Given the description of an element on the screen output the (x, y) to click on. 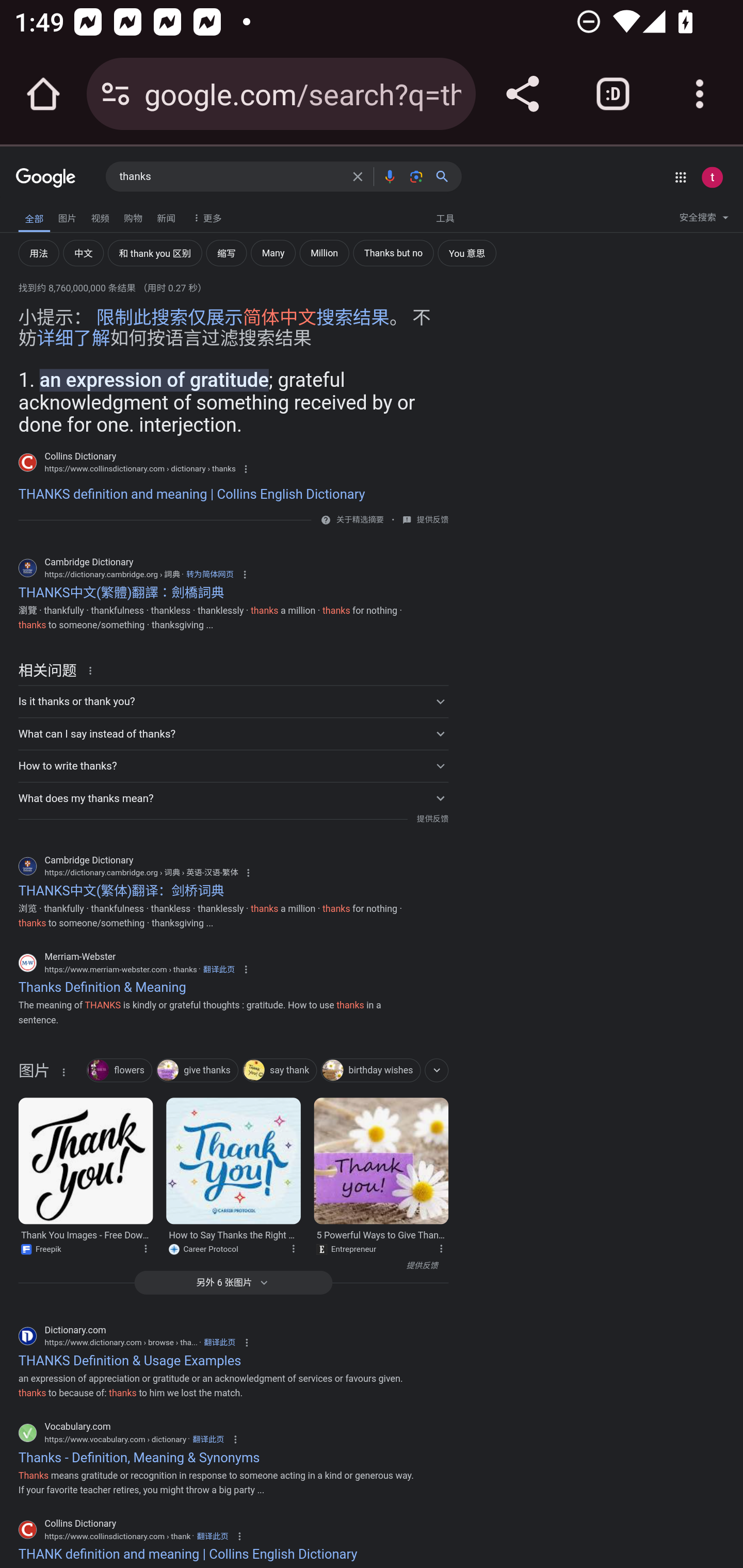
Open the home page (43, 93)
Connection is secure (115, 93)
Share (522, 93)
Switch or close tabs (612, 93)
Customize and control Google Chrome (699, 93)
清除 (357, 176)
按语音搜索 (389, 176)
按图搜索 (415, 176)
搜索 (446, 176)
Google 应用 (680, 176)
Google 账号： test appium (testappium002@gmail.com) (712, 176)
Google (45, 178)
thanks (229, 177)
无障碍功能反馈 (42, 212)
图片 (67, 216)
视频 (99, 216)
购物 (133, 216)
新闻 (166, 216)
更多 (205, 216)
安全搜索 (703, 219)
工具 (444, 216)
添加“用法” 用法 (38, 252)
添加“中文” 中文 (83, 252)
添加“和 thank you 区别” 和 thank you 区别 (154, 252)
添加“缩写” 缩写 (226, 252)
添加“Many” Many (272, 252)
添加“Million” Million (324, 252)
添加“Thanks but no” Thanks but no (392, 252)
添加“You 意思” You 意思 (466, 252)
限制此搜索仅展示简体中文搜索结果 限制此搜索仅展示 简体中文 搜索结果 (242, 316)
详细了解 (73, 338)
关于精选摘要 (359, 519)
提供反馈 (432, 519)
转为简体网页 (209, 573)
关于这条结果的详细信息 (93, 670)
Is it thanks or thank you? (232, 701)
What can I say instead of thanks? (232, 732)
How to write thanks? (232, 765)
What does my thanks mean? (232, 797)
提供反馈 (432, 818)
翻译此页 (218, 968)
图片 (33, 1073)
flowers (119, 1070)
give thanks (196, 1070)
say thank (279, 1070)
birthday wishes (370, 1070)
按功能过滤 (436, 1069)
关于这条结果的详细信息 (62, 1071)
Thank You Images - Free Download on Freepik (85, 1160)
How to Say Thanks the Right Way - Career Protocol (233, 1160)
关于这条结果的详细信息 (148, 1247)
关于这条结果的详细信息 (296, 1247)
关于这条结果的详细信息 (444, 1247)
提供反馈 (227, 1265)
另外 6 张图片 (232, 1282)
翻译此页 (218, 1341)
翻译此页 (207, 1438)
翻译此页 (212, 1535)
